Given the description of an element on the screen output the (x, y) to click on. 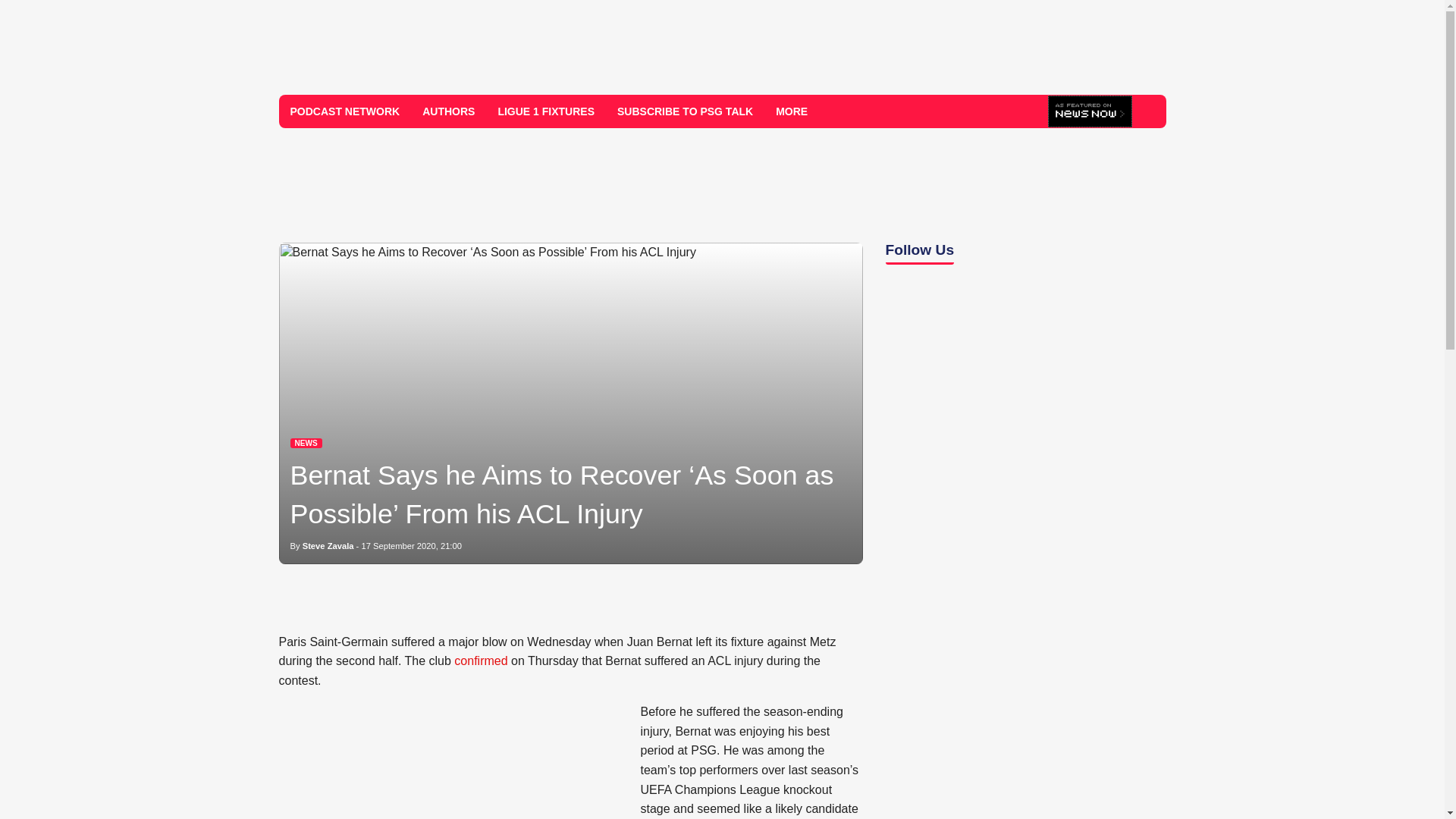
NEWS (305, 442)
SUBSCRIBE TO PSG TALK (684, 111)
AUTHORS (448, 111)
17 September 2020, 21:00 (411, 545)
Search (1147, 111)
Steve Zavala (327, 545)
PODCAST NETWORK (345, 111)
MORE (796, 111)
Click here for more PSG news from NewsNow (1090, 111)
confirmed (480, 660)
